Given the description of an element on the screen output the (x, y) to click on. 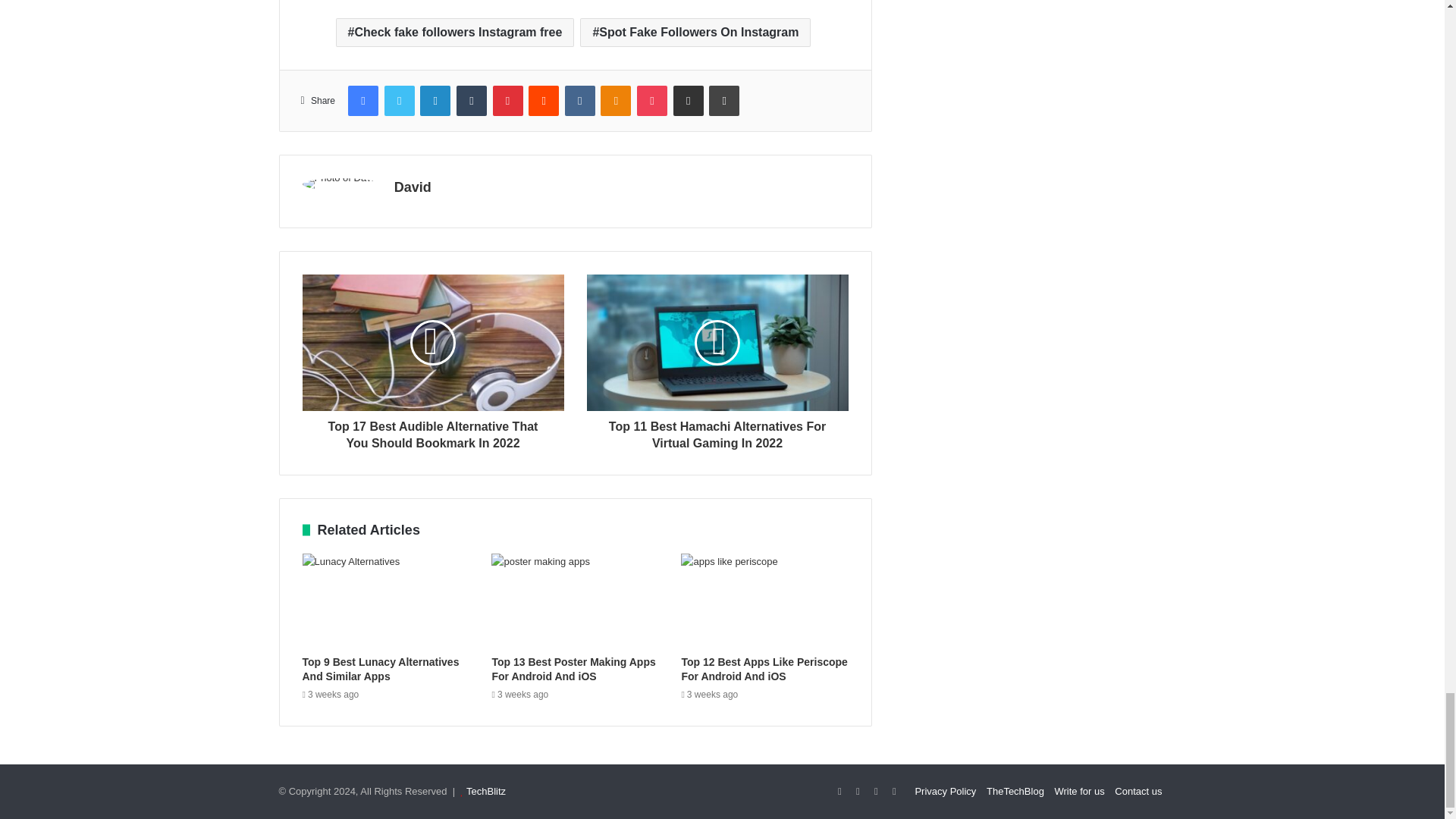
Pinterest (507, 100)
Twitter (399, 100)
VKontakte (579, 100)
Spot Fake Followers On Instagram (694, 32)
Twitter (399, 100)
Pocket (651, 100)
Facebook (362, 100)
Reddit (543, 100)
Facebook (362, 100)
Odnoklassniki (614, 100)
